Given the description of an element on the screen output the (x, y) to click on. 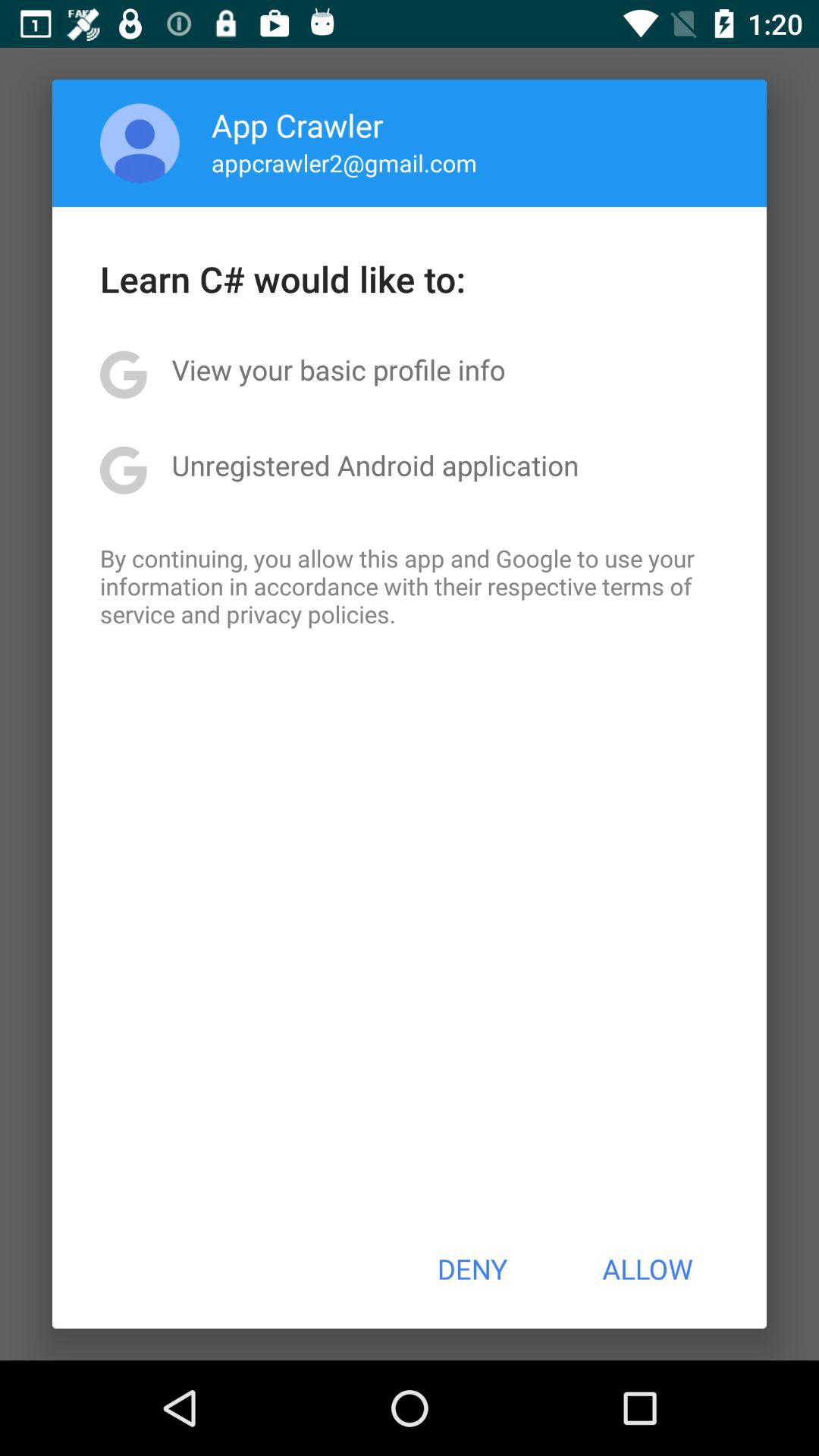
select icon below the app crawler app (344, 162)
